Given the description of an element on the screen output the (x, y) to click on. 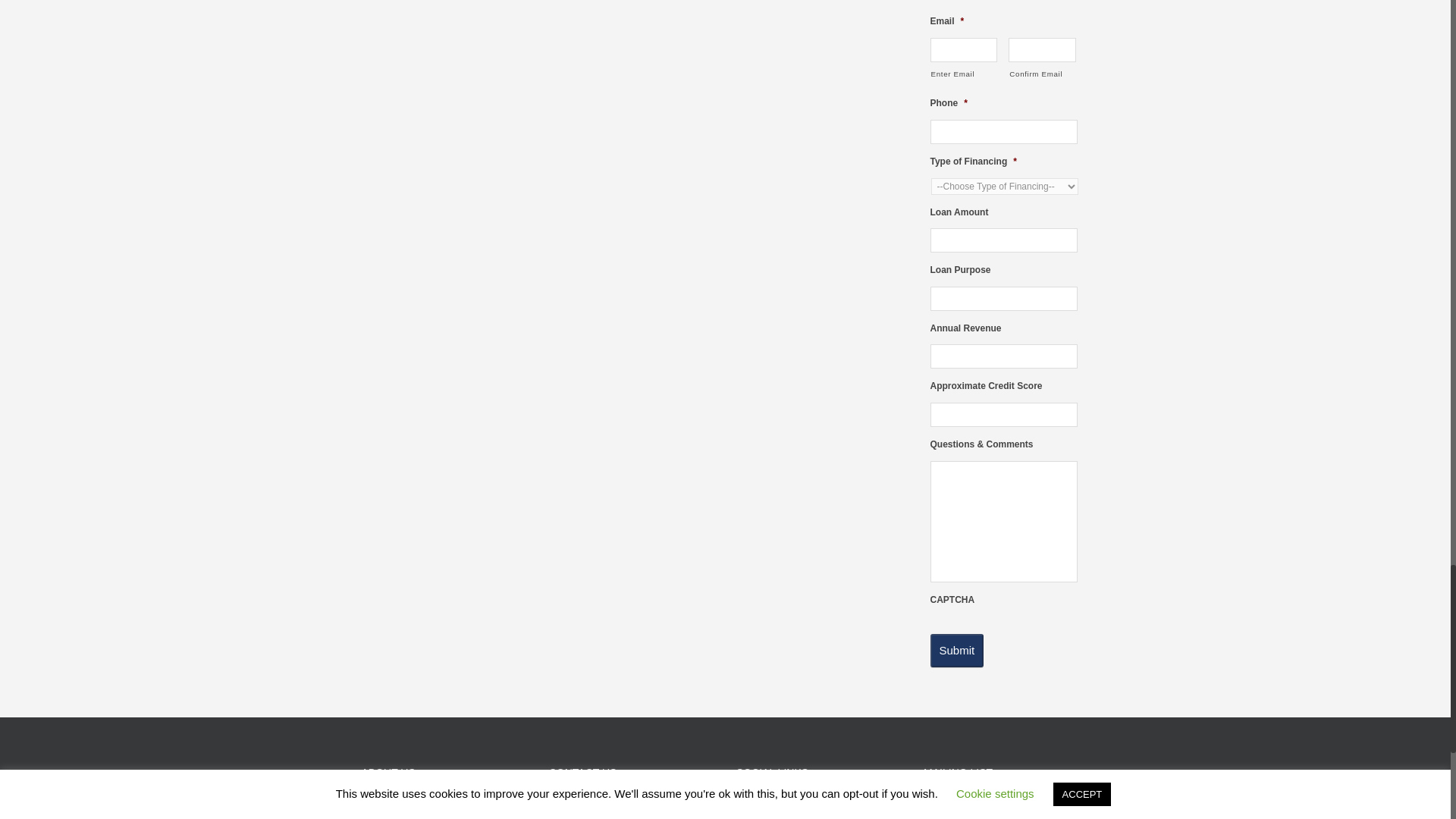
Submit (957, 650)
